Given the description of an element on the screen output the (x, y) to click on. 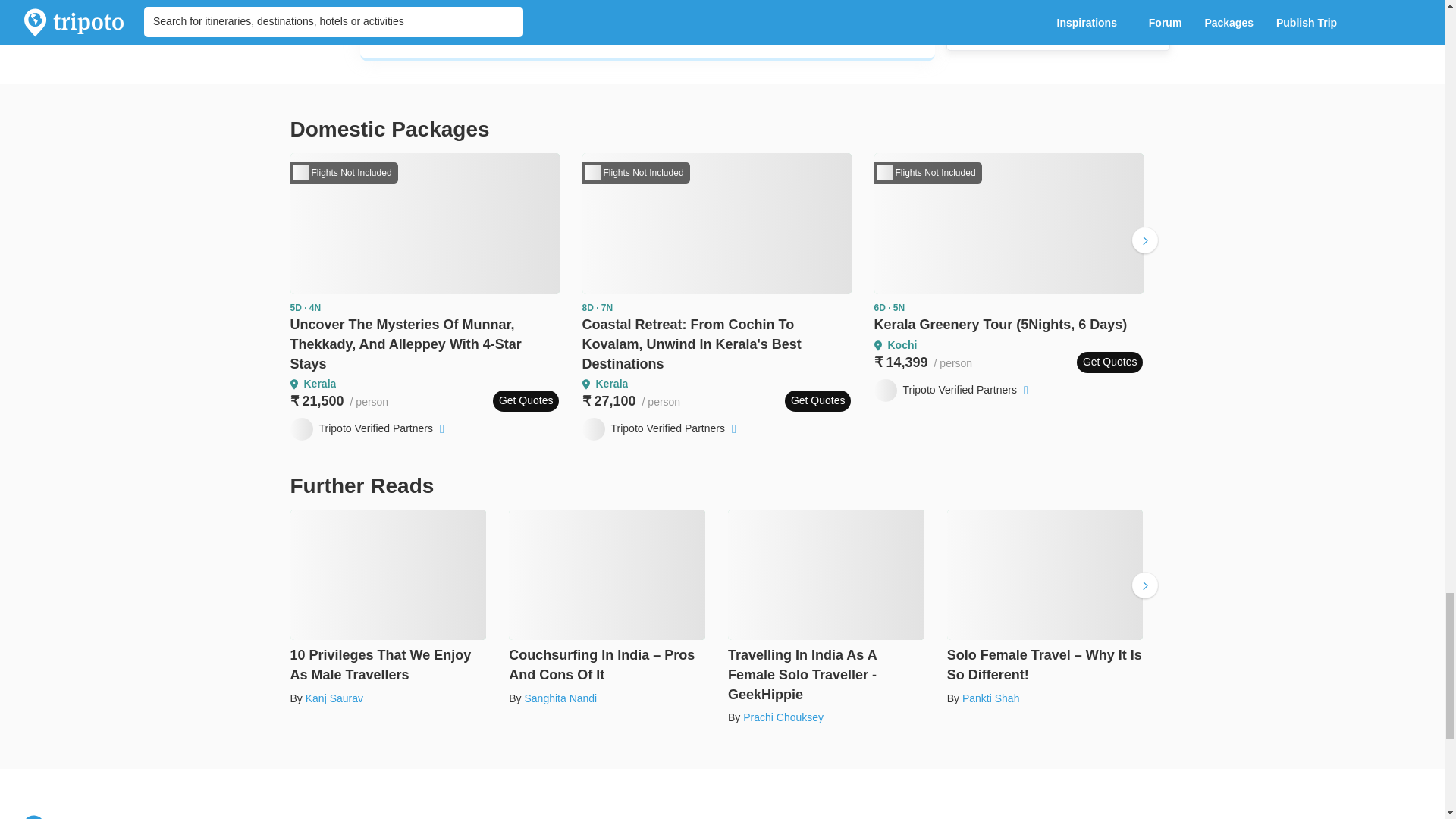
Get Quotes (526, 400)
Tripoto Verified Partners (367, 428)
Get Quotes (817, 400)
